Given the description of an element on the screen output the (x, y) to click on. 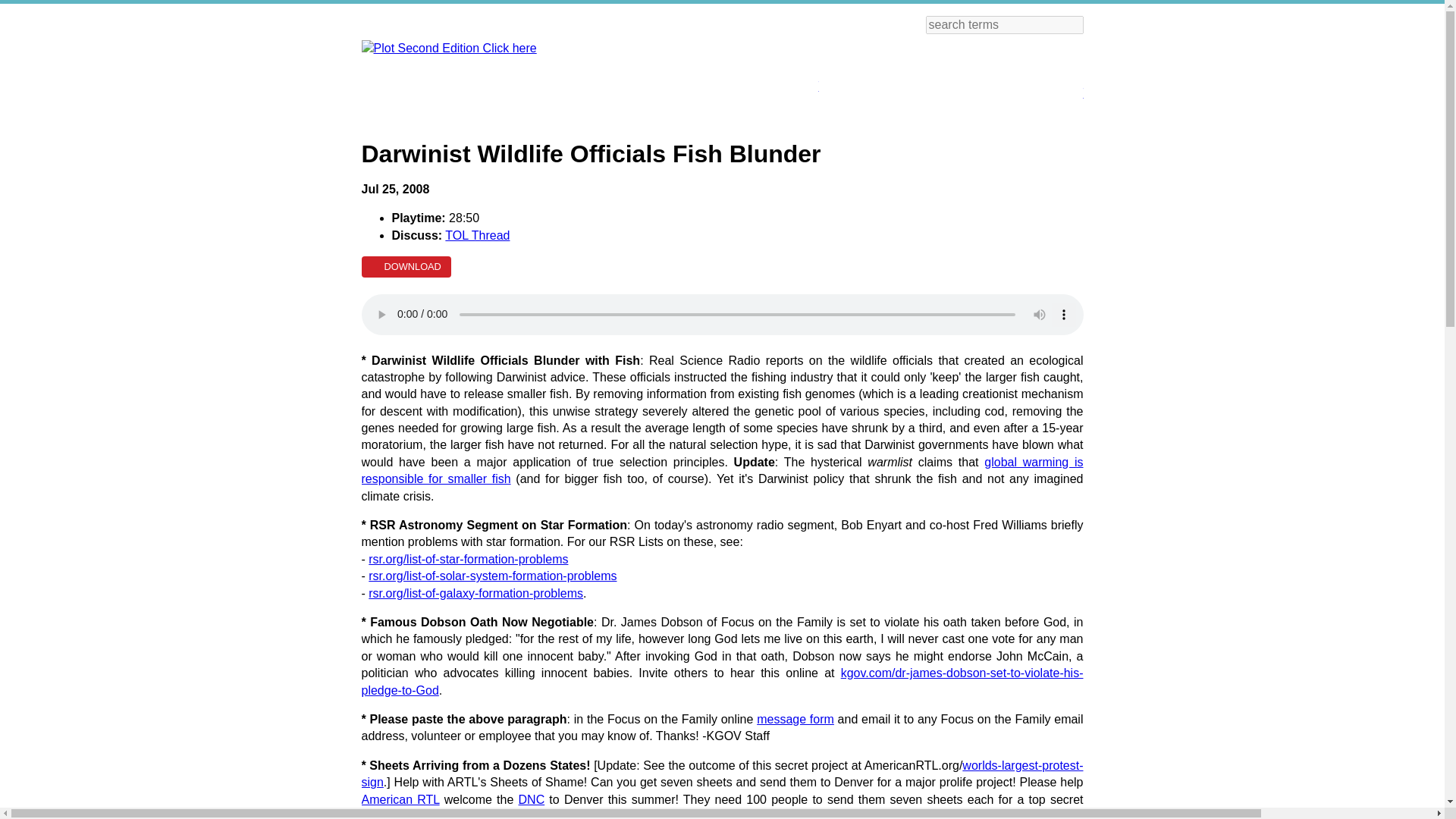
Visit Our KGOV Store (888, 77)
message form (795, 718)
Darwinist Wildlife Officials Fish Blunder (722, 314)
global warming is responsible for smaller fish (722, 470)
worlds-largest-protest-sign (722, 773)
The Dominic Enyart Show (1020, 80)
DOWNLOAD (405, 266)
American RTL (400, 799)
DNC (531, 799)
TOL Thread (477, 235)
Theology Thursday (776, 77)
